Given the description of an element on the screen output the (x, y) to click on. 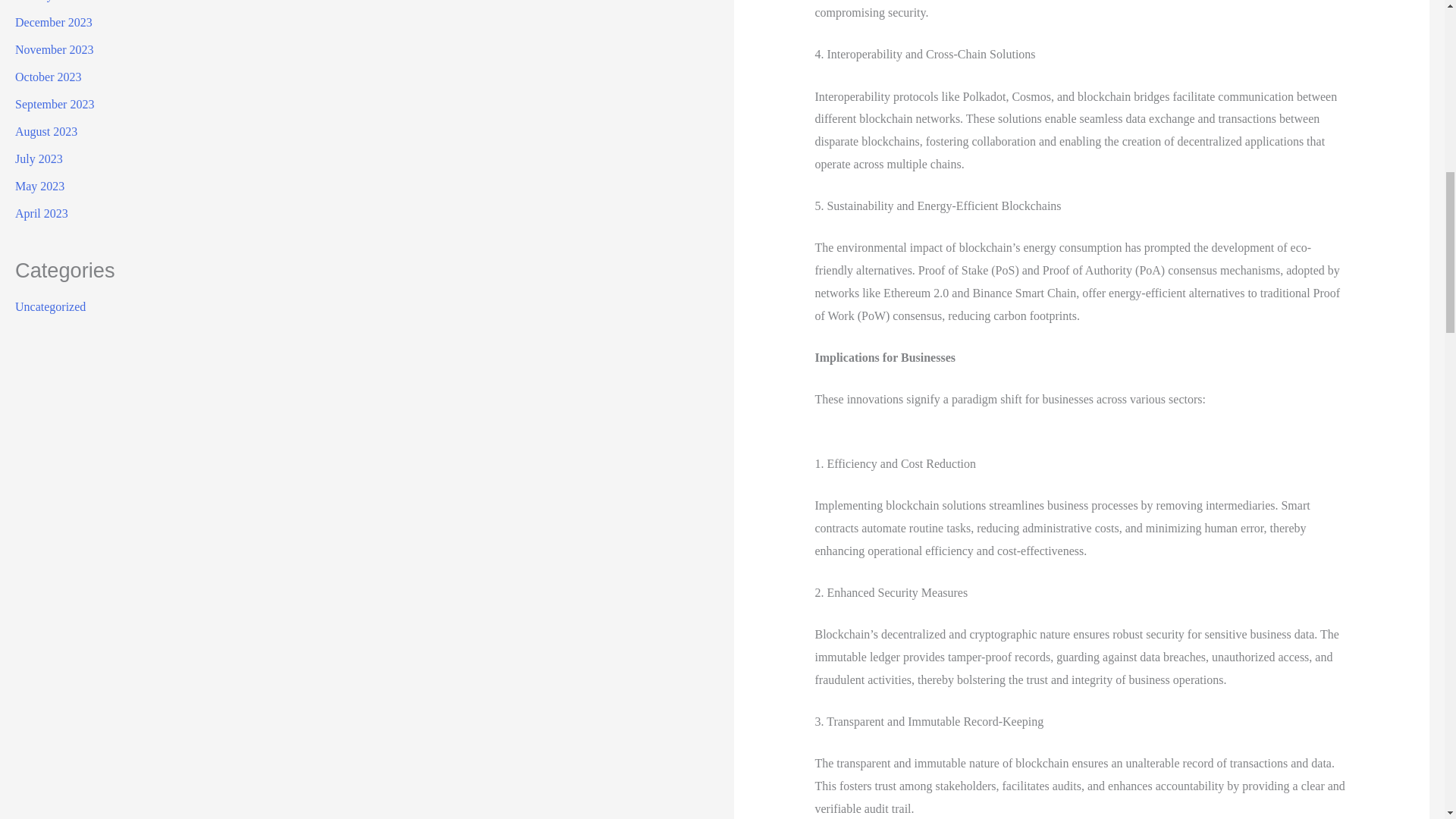
November 2023 (54, 49)
April 2023 (41, 213)
July 2023 (38, 158)
September 2023 (54, 103)
December 2023 (53, 21)
October 2023 (47, 76)
August 2023 (45, 131)
January 2024 (47, 0)
May 2023 (39, 185)
Uncategorized (49, 306)
